Given the description of an element on the screen output the (x, y) to click on. 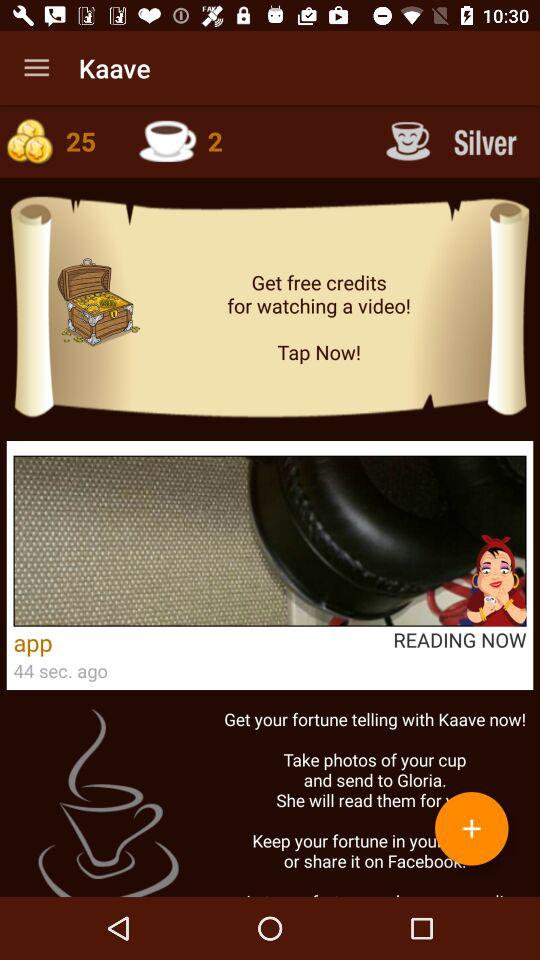
check coins (59, 141)
